Given the description of an element on the screen output the (x, y) to click on. 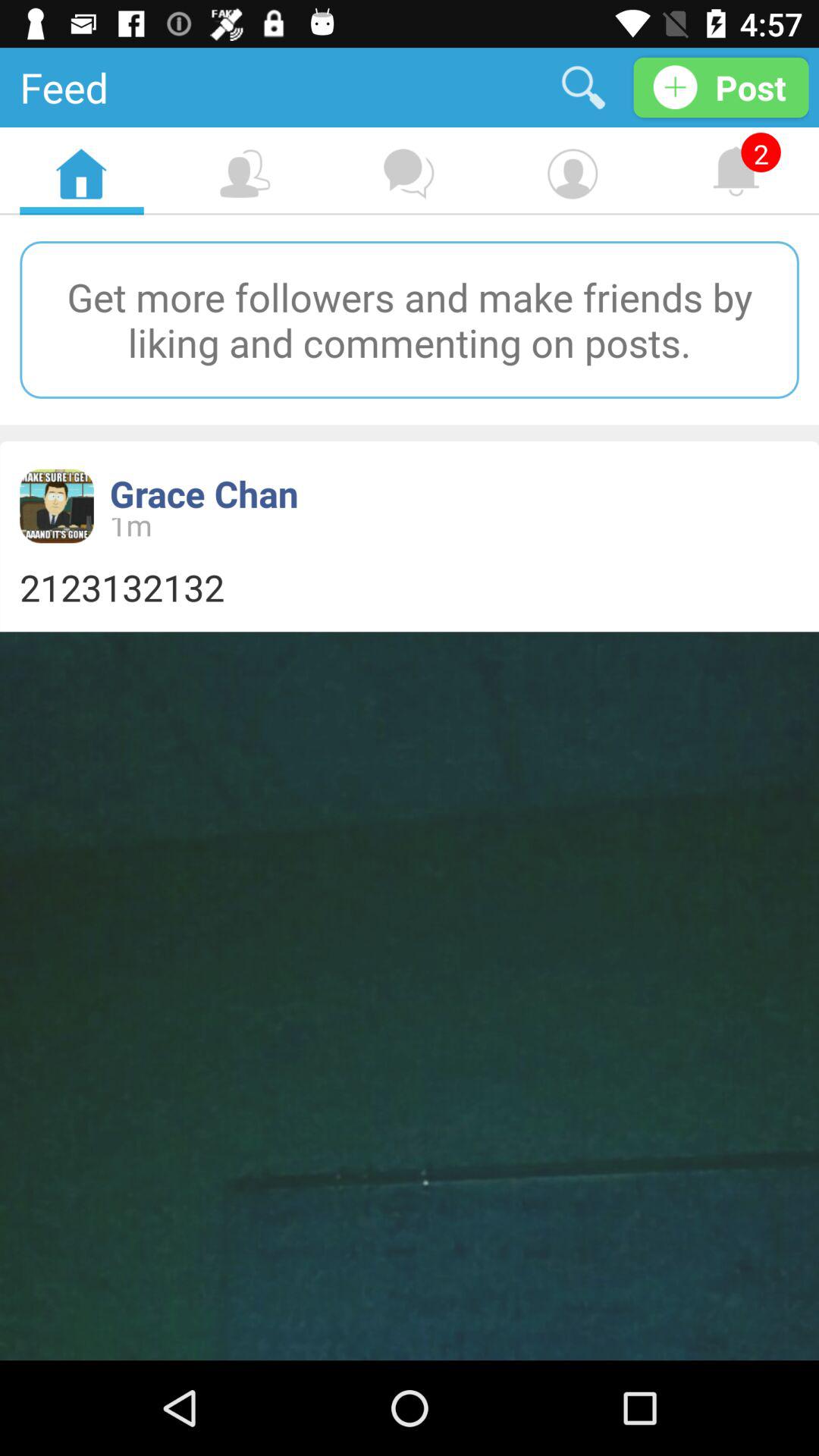
swipe until 2123132132 item (409, 587)
